Given the description of an element on the screen output the (x, y) to click on. 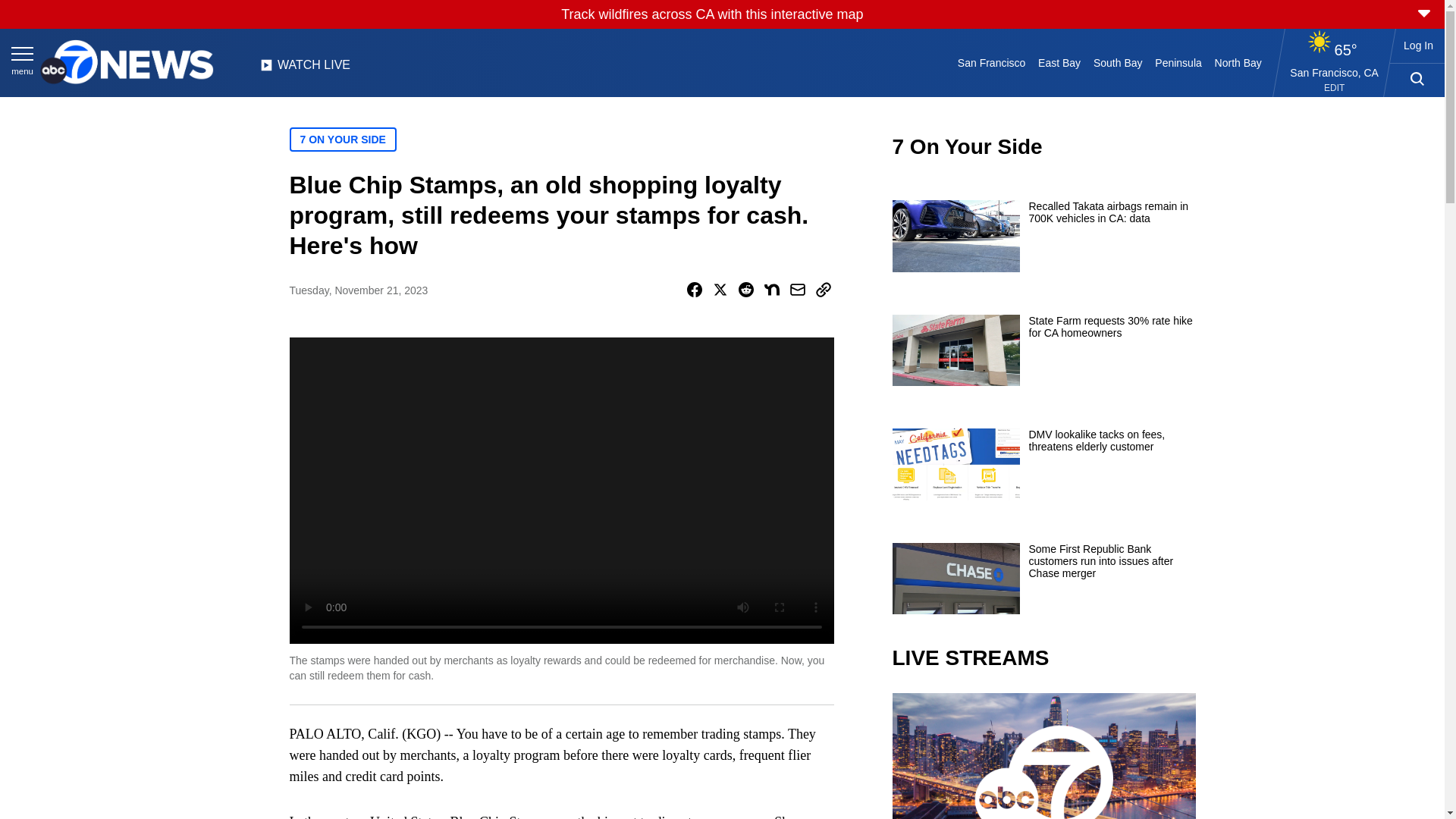
EDIT (1333, 87)
San Francisco (990, 62)
Peninsula (1178, 62)
San Francisco, CA (1334, 72)
East Bay (1059, 62)
South Bay (1117, 62)
North Bay (1238, 62)
WATCH LIVE (305, 69)
